Given the description of an element on the screen output the (x, y) to click on. 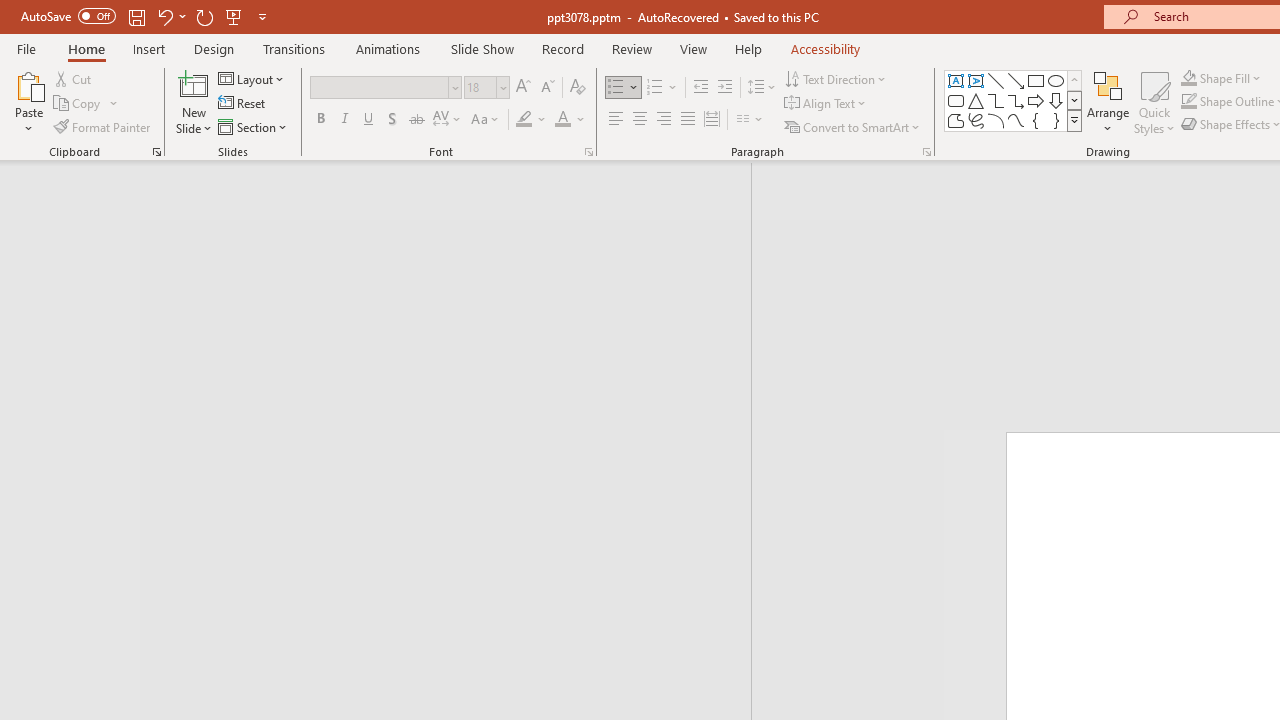
Convert to SmartArt (853, 126)
Arrow: Down (1055, 100)
Italic (344, 119)
Distributed (712, 119)
Font (379, 87)
Connector: Elbow Arrow (1016, 100)
Accessibility (825, 48)
Font Size (480, 87)
Arrange (1108, 102)
Text Highlight Color Yellow (524, 119)
Freeform: Scribble (975, 120)
Transitions (294, 48)
